Given the description of an element on the screen output the (x, y) to click on. 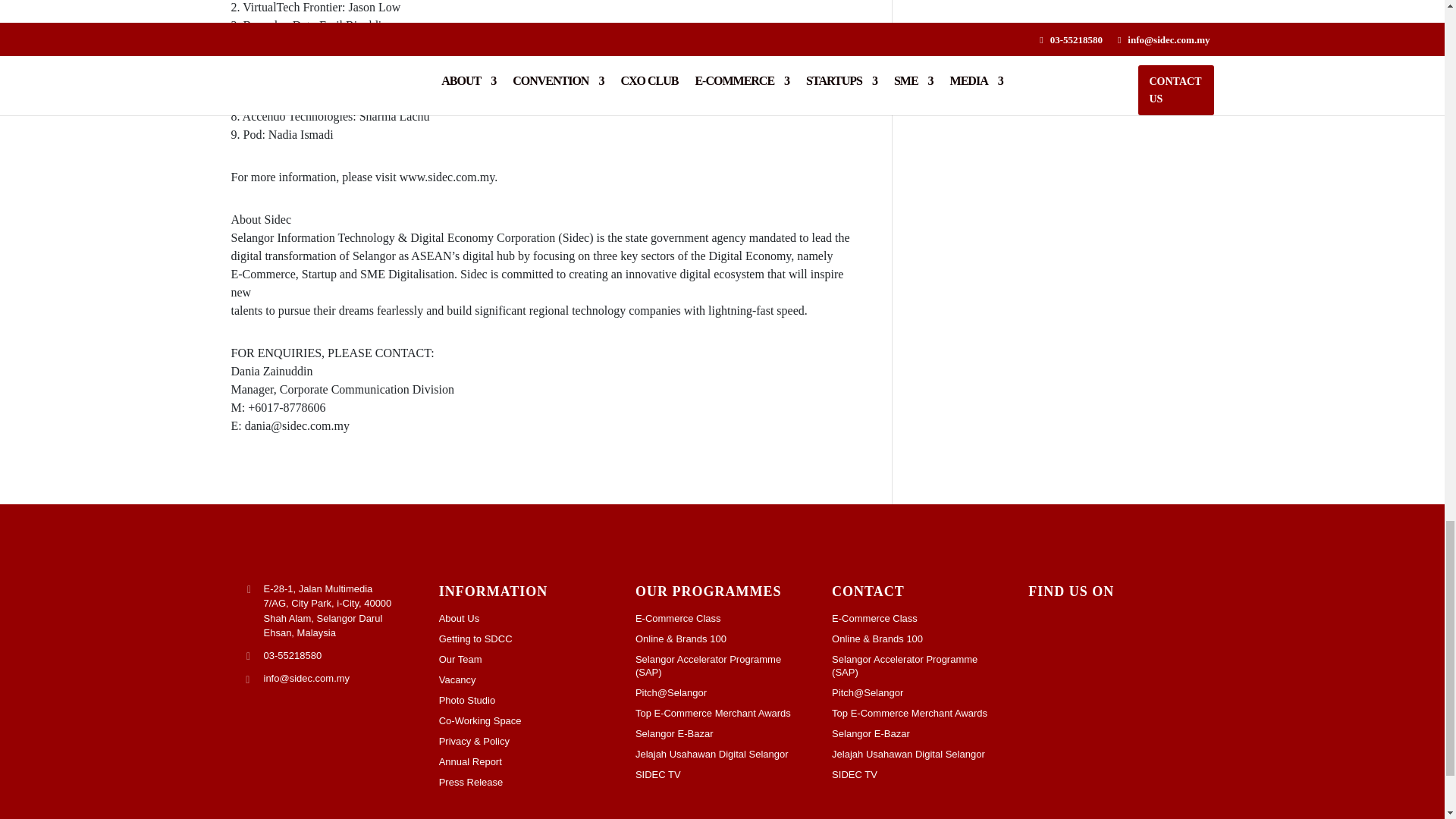
Vacancy (525, 679)
Co-Working Space (525, 720)
E-Commerce Class (721, 617)
Our Team (525, 658)
Photo Studio (525, 699)
Selangor E-Bazar (721, 733)
About Us (525, 617)
Top E-Commerce Merchant Awards (721, 712)
Press Release (525, 781)
Annual Report (525, 761)
